Given the description of an element on the screen output the (x, y) to click on. 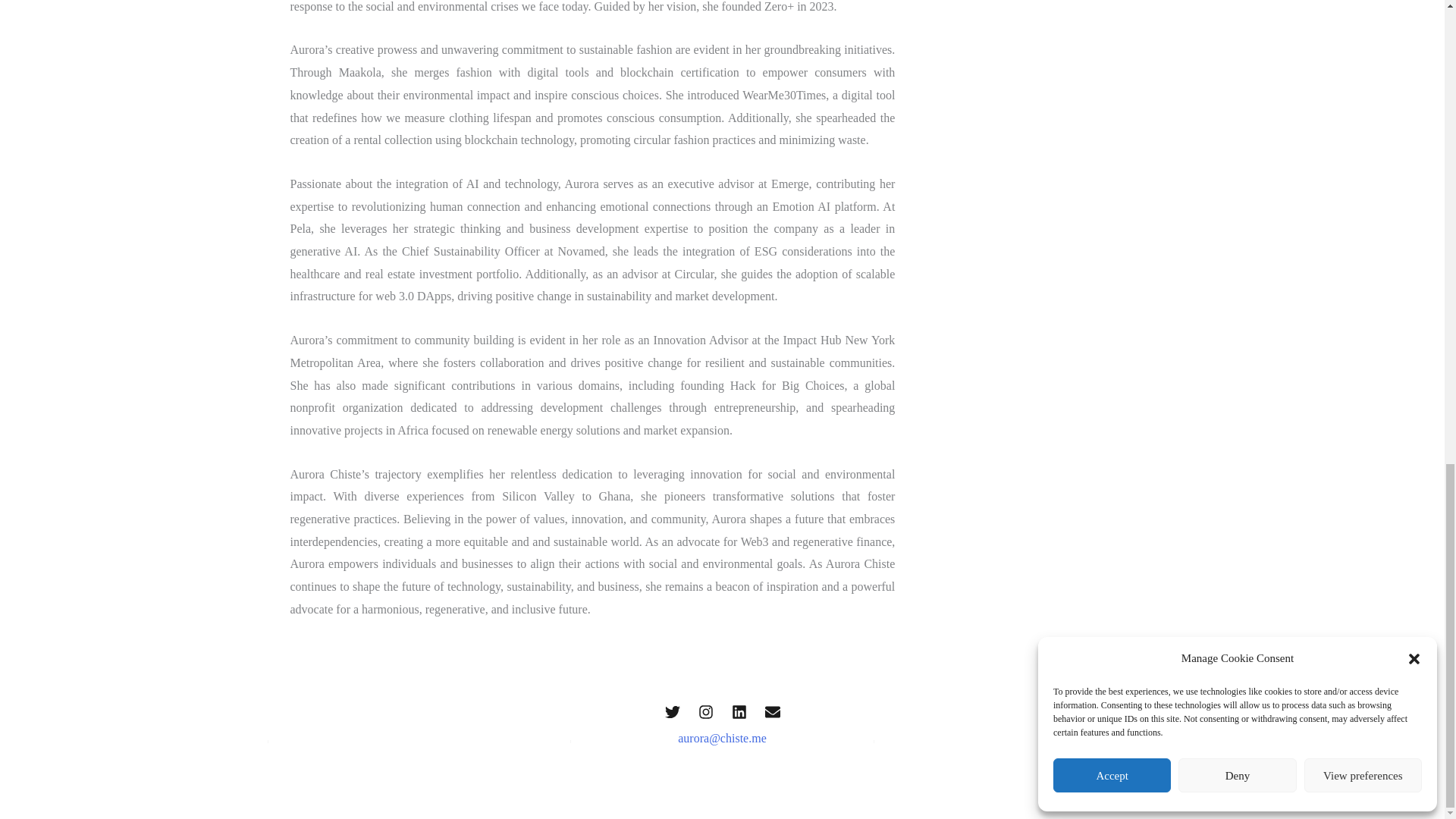
Envelope (771, 711)
Linkedin (737, 711)
Twitter (671, 711)
Instagram (705, 711)
